Given the description of an element on the screen output the (x, y) to click on. 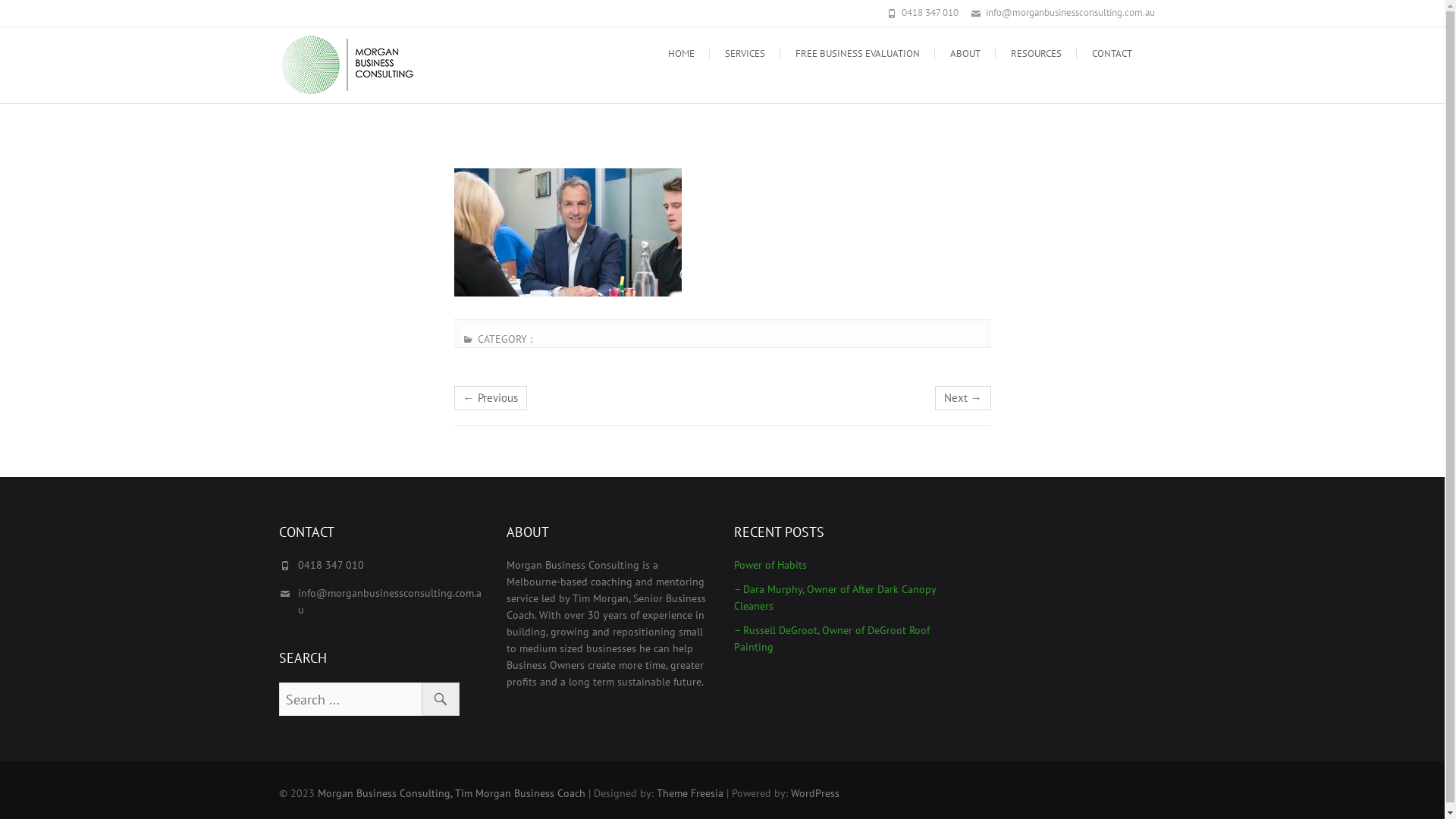
RESOURCES Element type: text (1035, 53)
ABOUT Element type: text (964, 53)
info@morganbusinessconsulting.com.au Element type: text (388, 601)
SERVICES Element type: text (744, 53)
HOME Element type: text (680, 53)
Power of Habits Element type: text (836, 564)
0418 347 010 Element type: text (330, 564)
WordPress Element type: text (814, 793)
FREE BUSINESS EVALUATION Element type: text (856, 53)
info@morganbusinessconsulting.com.au Element type: text (1069, 12)
CONTACT Element type: text (1111, 53)
Morgan Business Consulting, Tim Morgan Business Coach Element type: text (450, 793)
Theme Freesia Element type: text (689, 793)
0418 347 010 Element type: text (928, 12)
Morgan Business Consulting, Tim Morgan Business Coach Element type: text (511, 54)
